Given the description of an element on the screen output the (x, y) to click on. 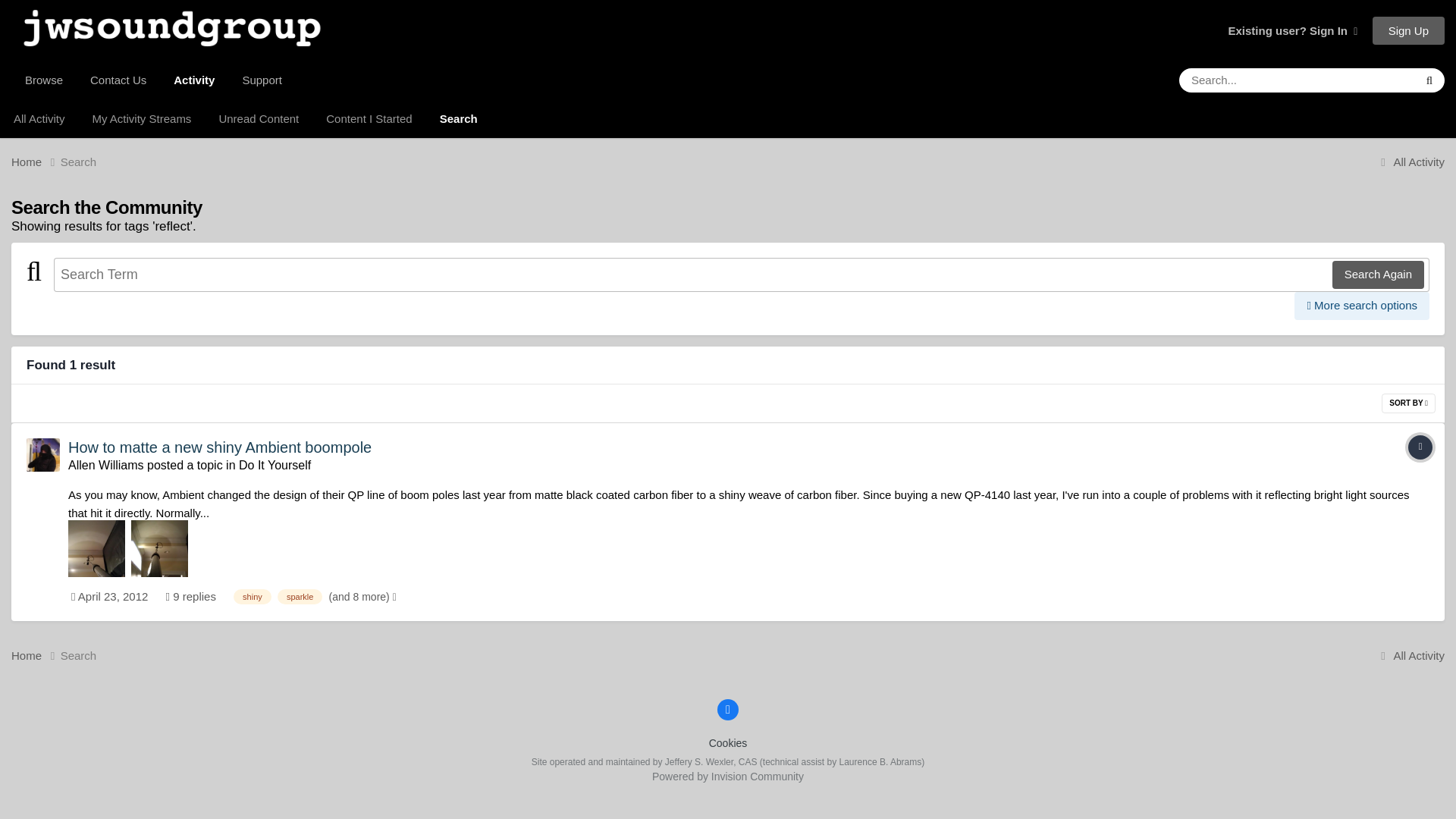
Find other content tagged with 'sparkle' (299, 596)
Search (79, 160)
Search (459, 118)
Sign Up (1408, 30)
Find other content tagged with 'shiny' (251, 596)
Go to Allen Williams's profile (42, 454)
Search Again (1377, 275)
Home (36, 161)
Topic (1419, 446)
Home (36, 161)
Contact Us (118, 79)
Unread Content (259, 118)
Existing user? Sign In   (1291, 30)
Browse (44, 79)
More search options (1361, 305)
